Given the description of an element on the screen output the (x, y) to click on. 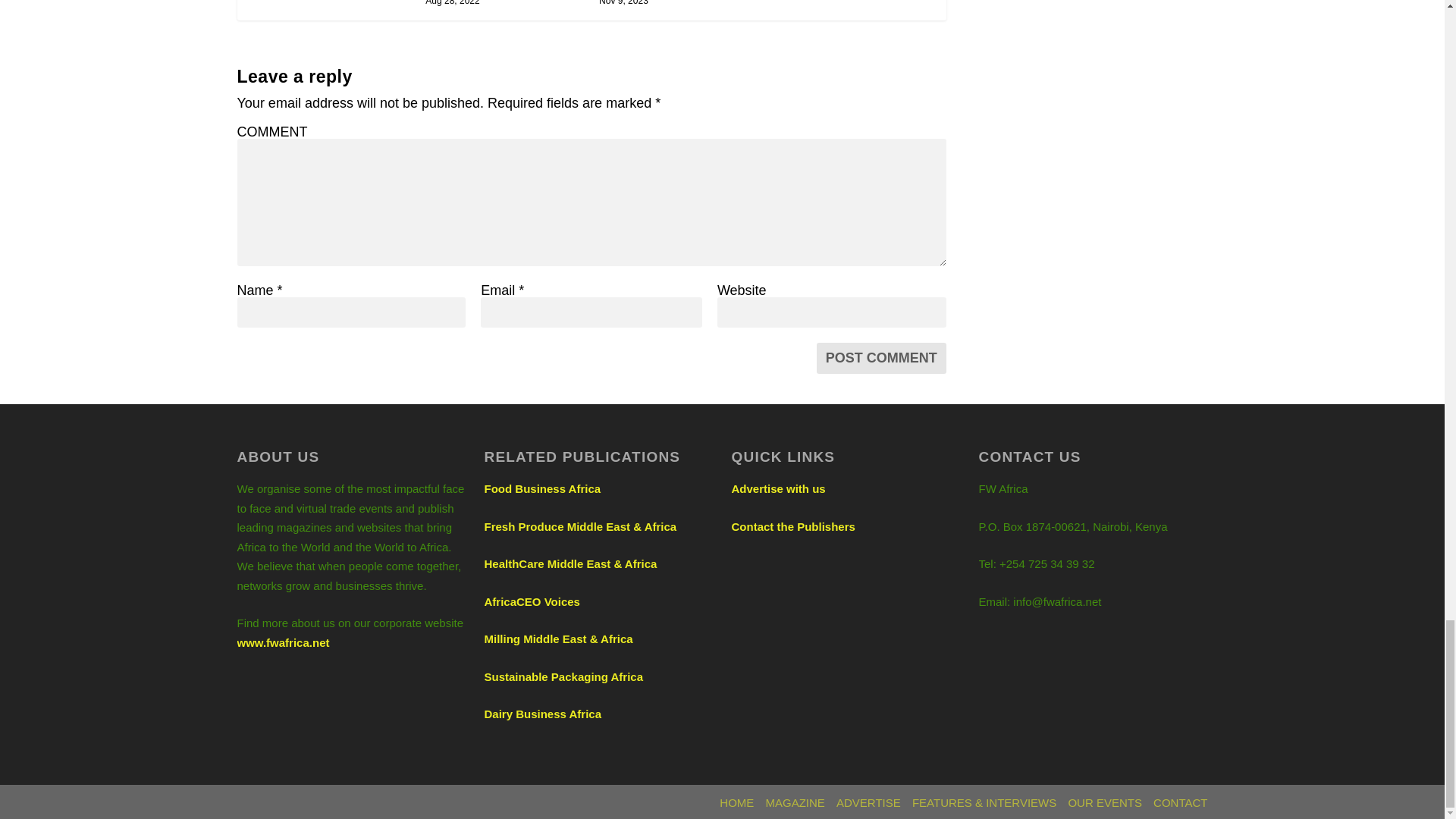
Post Comment (881, 358)
